Given the description of an element on the screen output the (x, y) to click on. 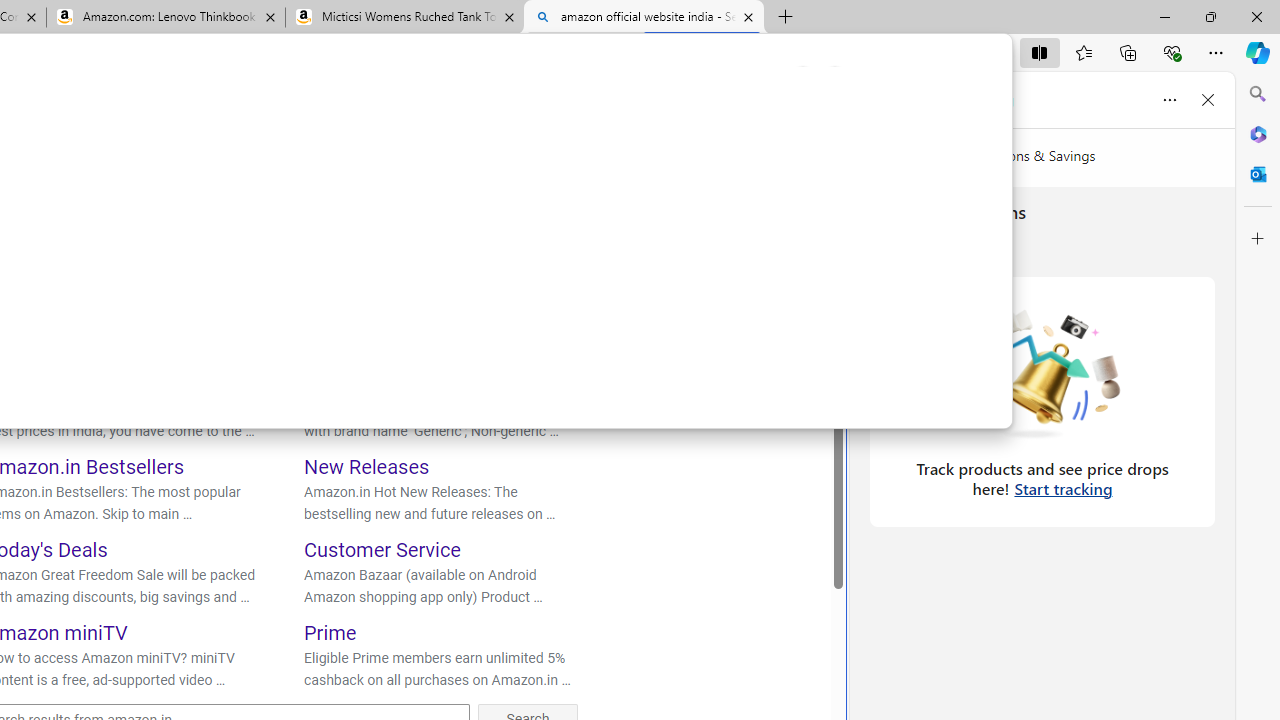
MORE (478, 173)
Eugene (776, 119)
MAPS (330, 173)
